Given the description of an element on the screen output the (x, y) to click on. 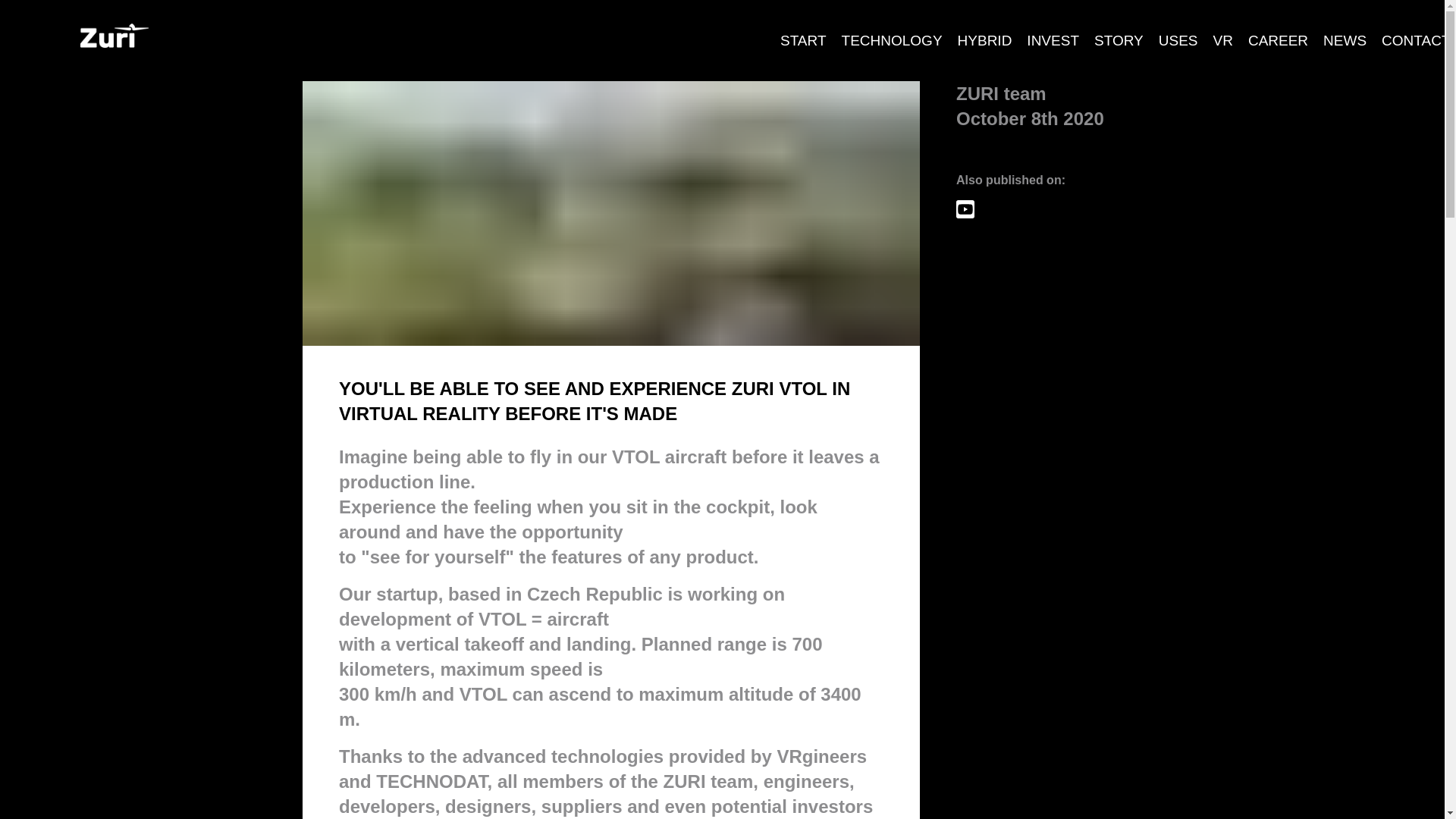
STORY (1118, 40)
HYBRID (985, 40)
START (803, 40)
USES (1178, 40)
TECHNOLOGY (892, 40)
NEWS (1345, 40)
VR (1222, 40)
CAREER (1278, 40)
INVEST (1052, 40)
